Given the description of an element on the screen output the (x, y) to click on. 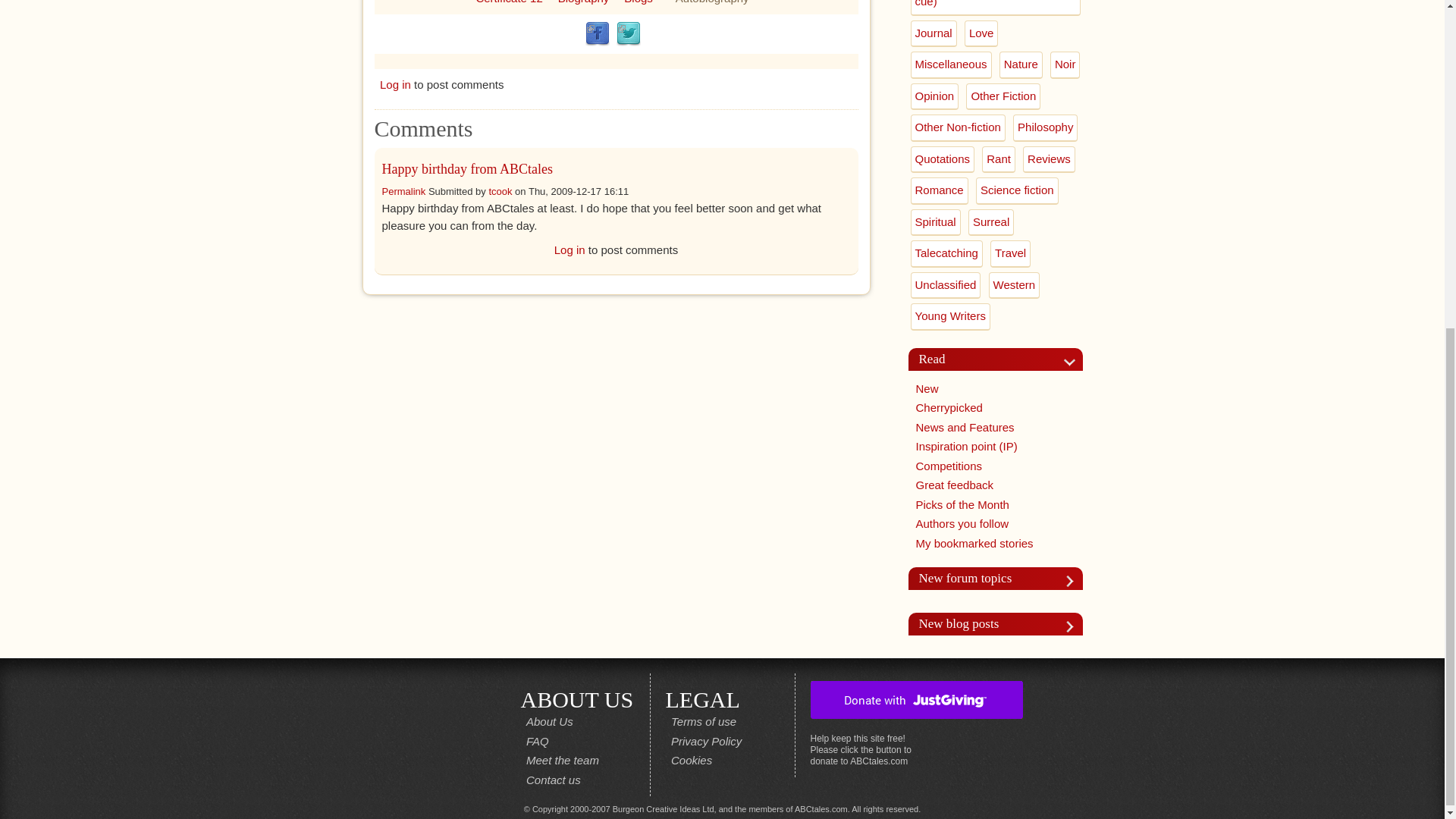
Log in (569, 249)
Facebook (597, 33)
tcook (499, 191)
Permalink (403, 191)
Certificate 12 (508, 2)
Twitter (627, 33)
Happy birthday from ABCtales (467, 168)
Autobiography (712, 2)
Twitter (627, 33)
Blogs (638, 2)
Biography (583, 2)
View user profile. (499, 191)
Log in (395, 83)
Facebook (597, 33)
